Given the description of an element on the screen output the (x, y) to click on. 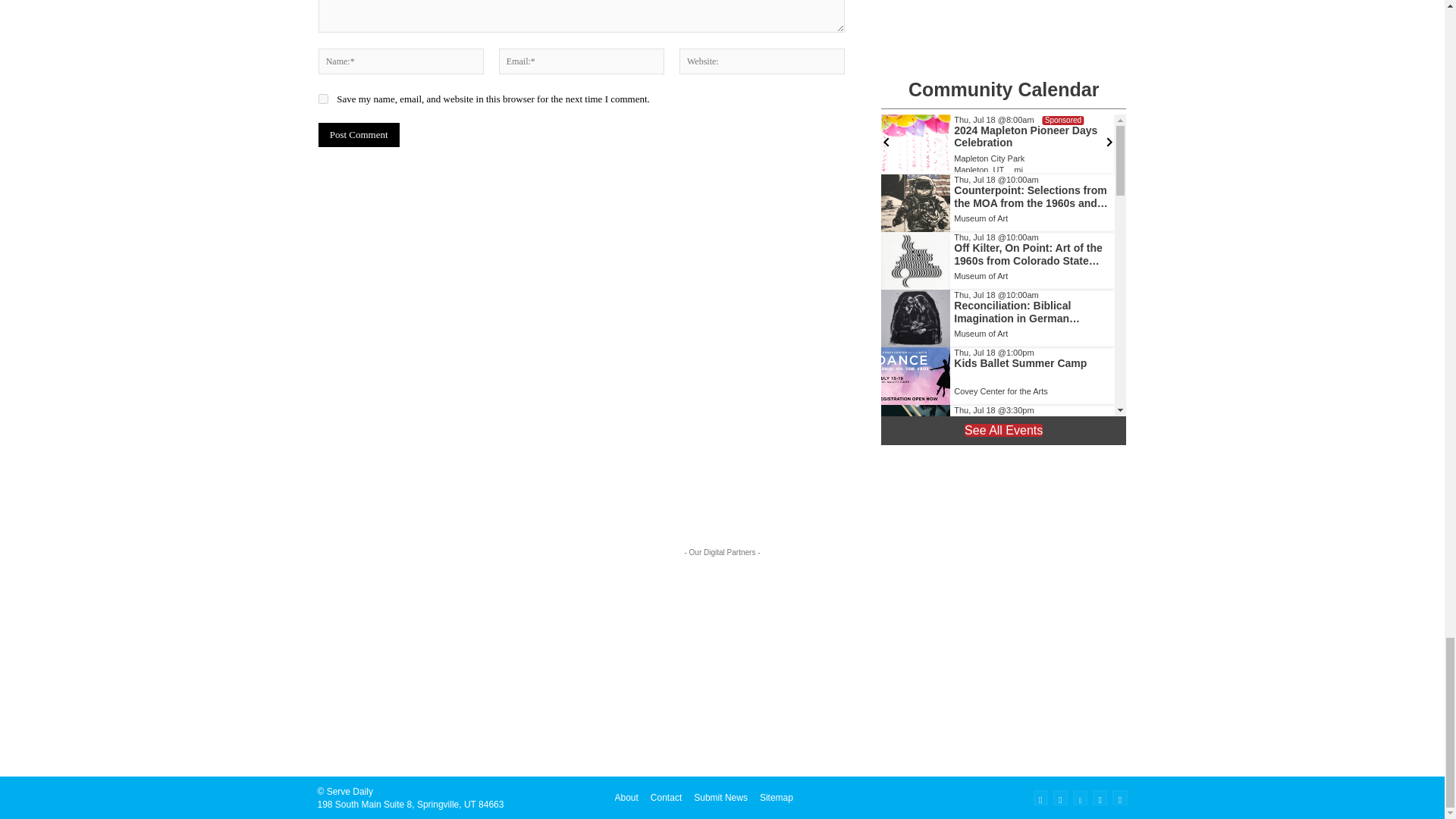
Post Comment (358, 134)
yes (323, 99)
